Given the description of an element on the screen output the (x, y) to click on. 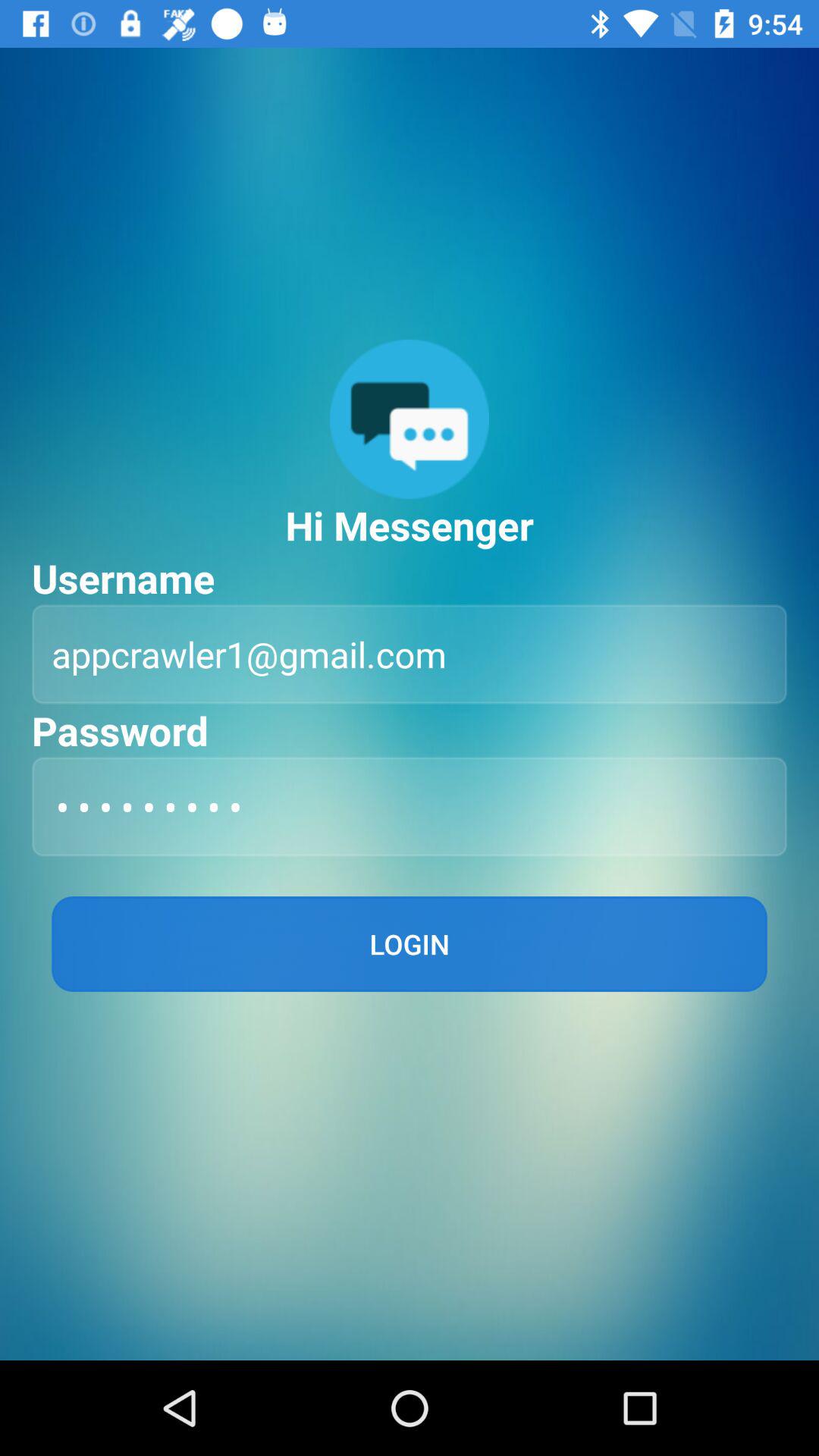
select the icon below the password (409, 806)
